Given the description of an element on the screen output the (x, y) to click on. 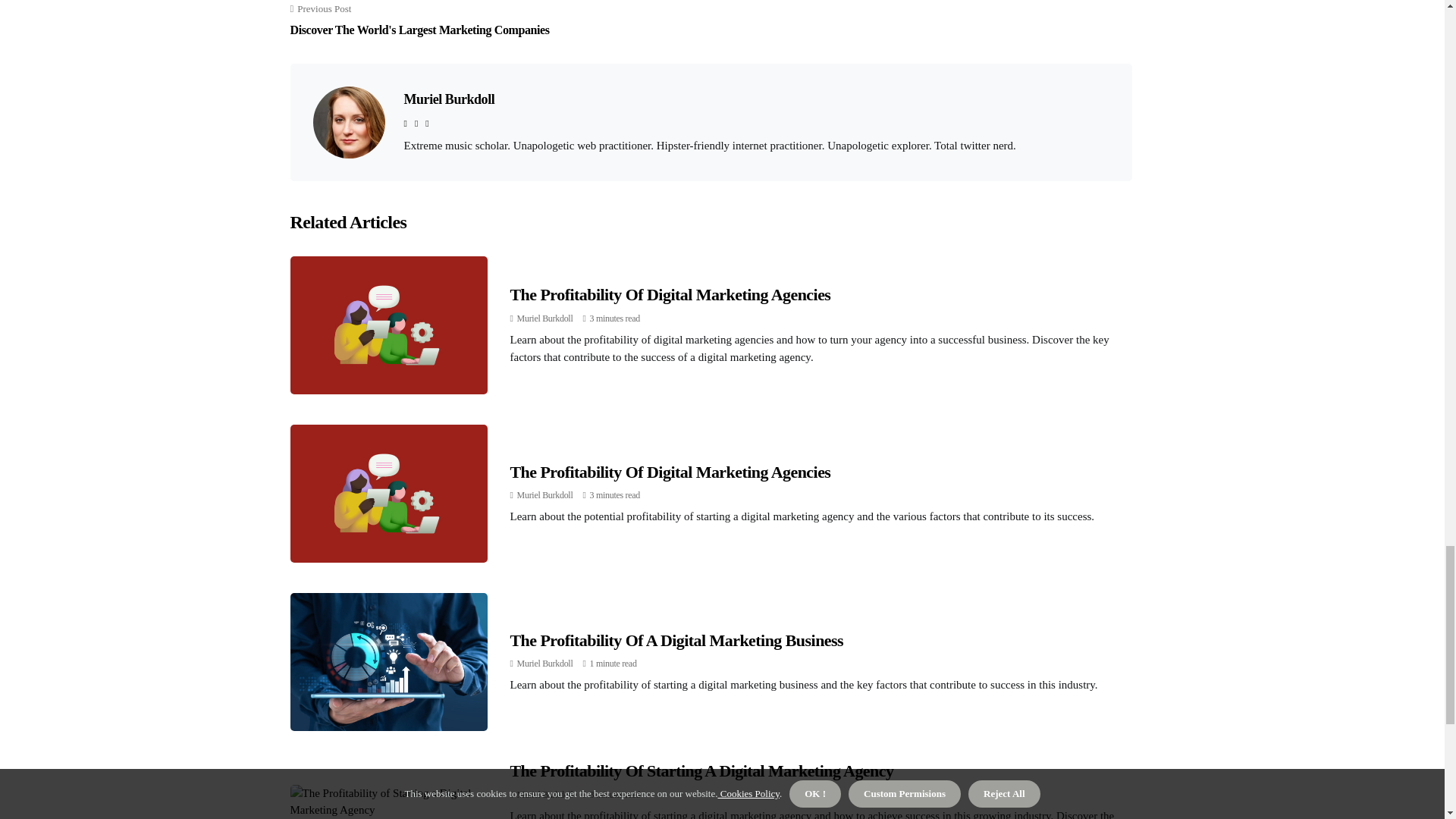
Posts by Muriel Burkdoll (544, 317)
Posts by Muriel Burkdoll (544, 794)
Posts by Muriel Burkdoll (544, 663)
Muriel Burkdoll (544, 317)
Muriel Burkdoll (449, 99)
The Profitability Of Digital Marketing Agencies (669, 294)
Posts by Muriel Burkdoll (544, 494)
